Given the description of an element on the screen output the (x, y) to click on. 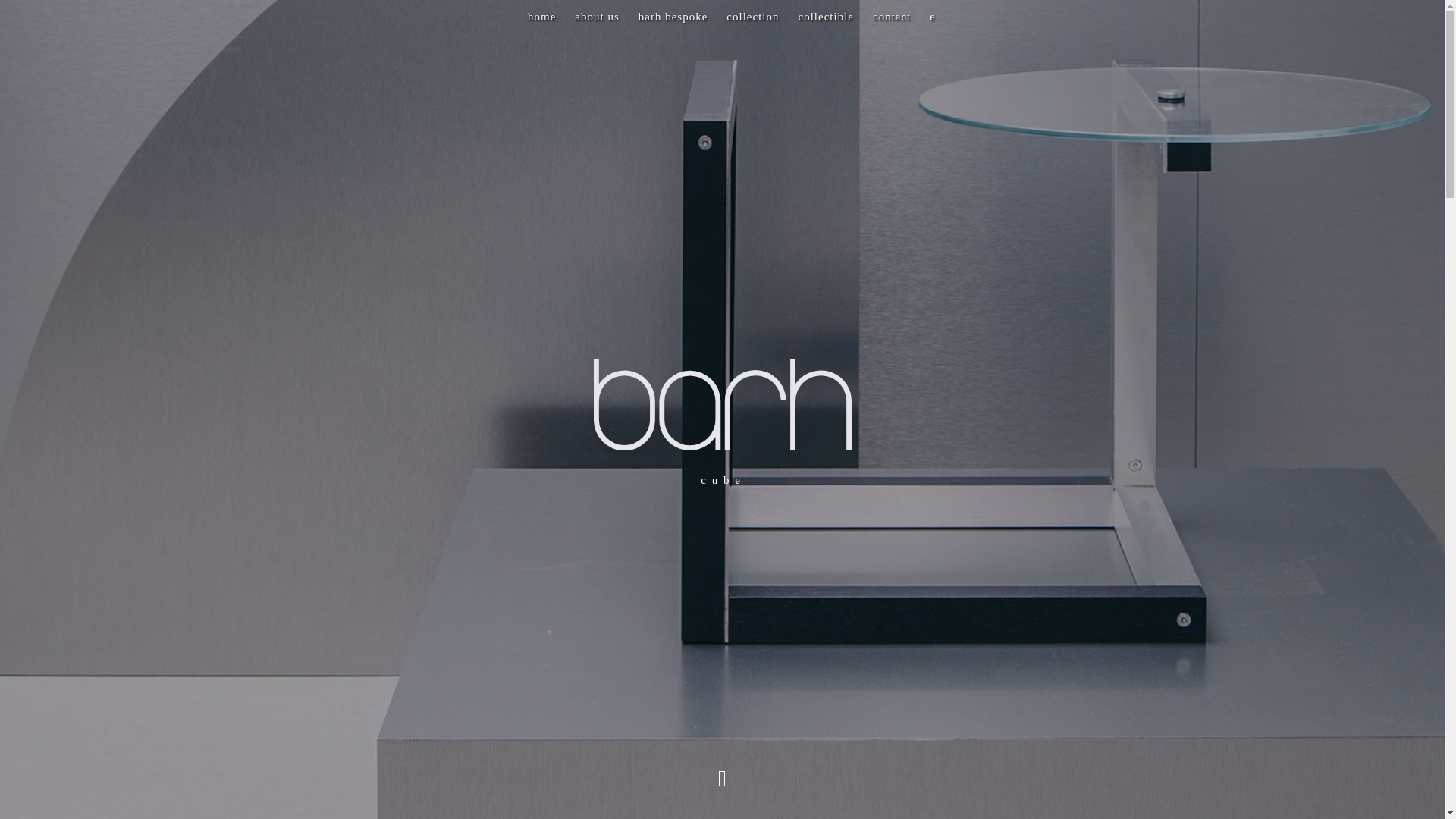
barh bespoke (673, 17)
contact (891, 17)
about us (596, 17)
collection (752, 17)
collectible (825, 17)
